Given the description of an element on the screen output the (x, y) to click on. 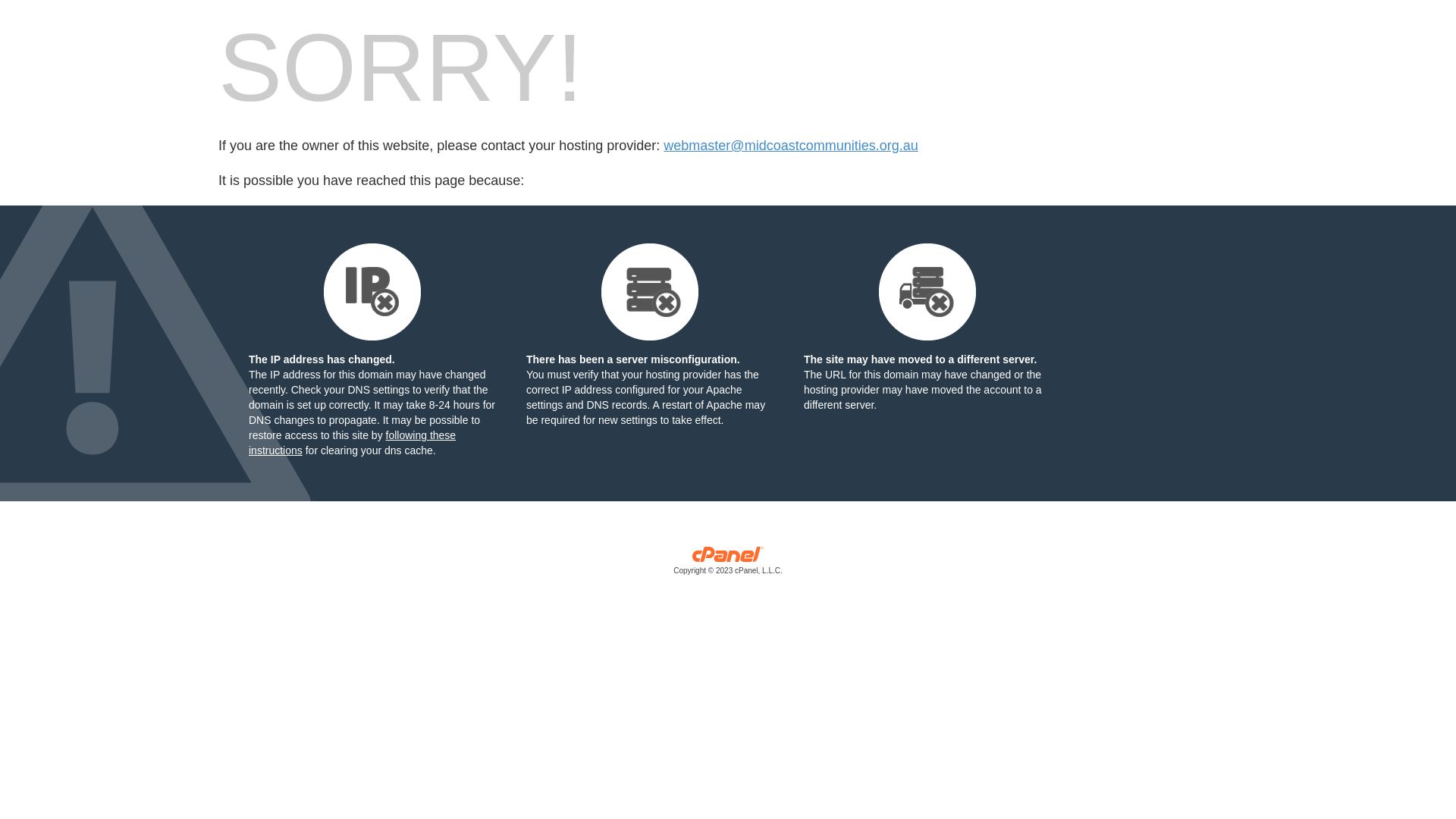
following these instructions Element type: text (351, 442)
webmaster@midcoastcommunities.org.au Element type: text (790, 145)
